Given the description of an element on the screen output the (x, y) to click on. 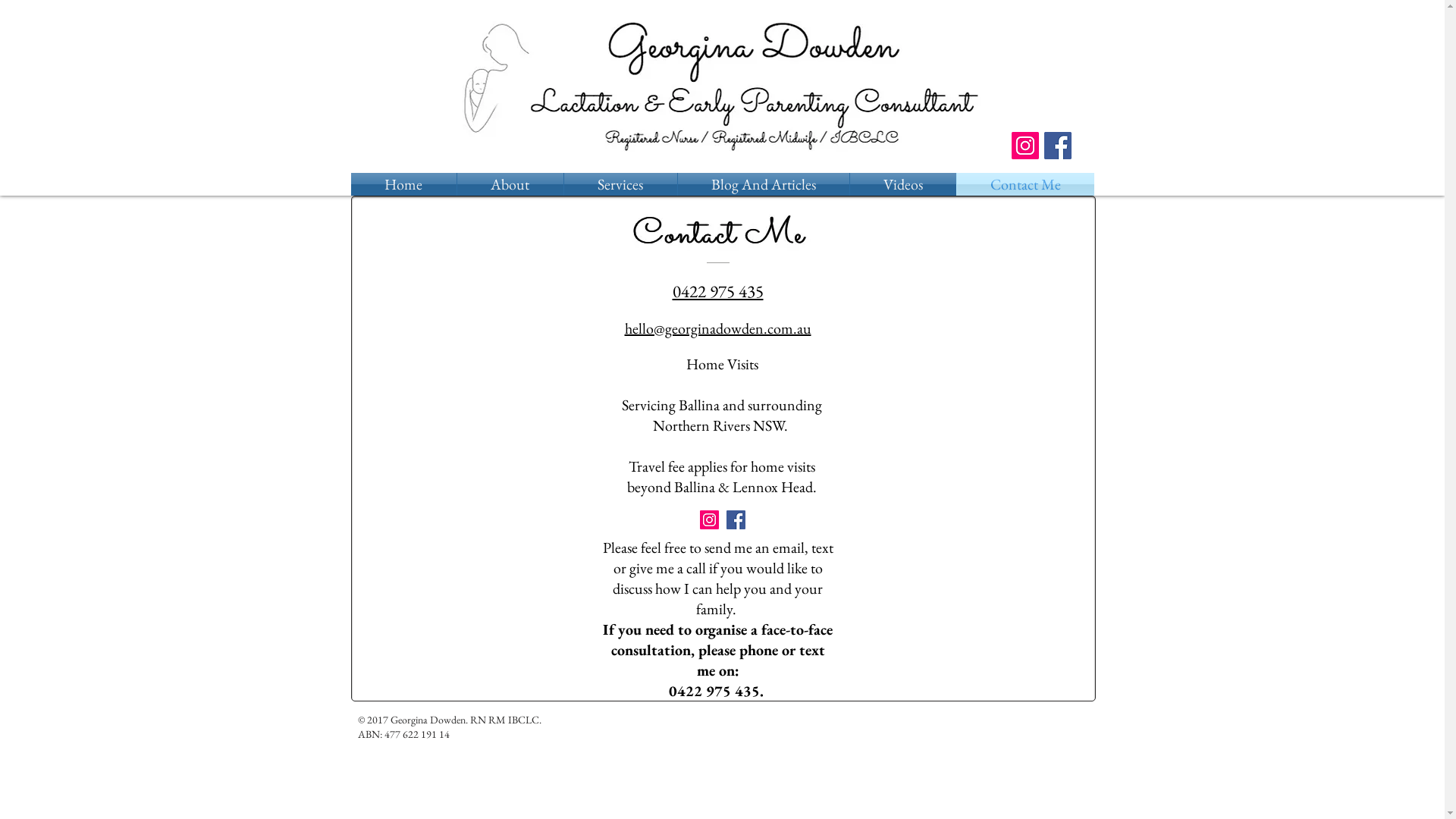
Services Element type: text (620, 183)
About Element type: text (509, 183)
Videos Element type: text (902, 183)
Home Element type: text (402, 183)
0422 975 435 Element type: text (716, 292)
hello@georginadowden.com.au Element type: text (717, 328)
Contact Me Element type: text (1025, 183)
Blog And Articles Element type: text (763, 183)
